Given the description of an element on the screen output the (x, y) to click on. 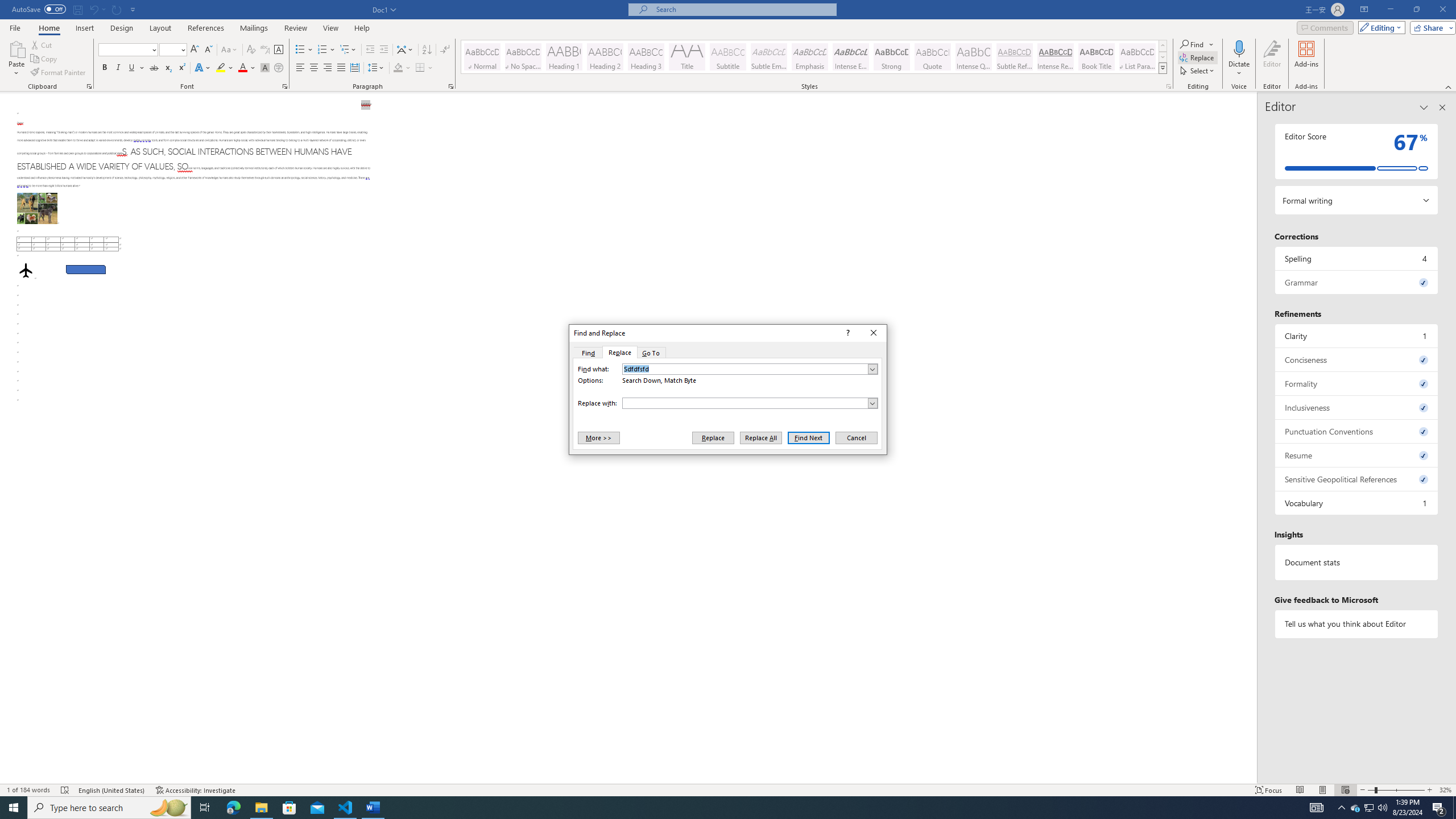
Emphasis (809, 56)
Context help (847, 333)
Strong (891, 56)
